Given the description of an element on the screen output the (x, y) to click on. 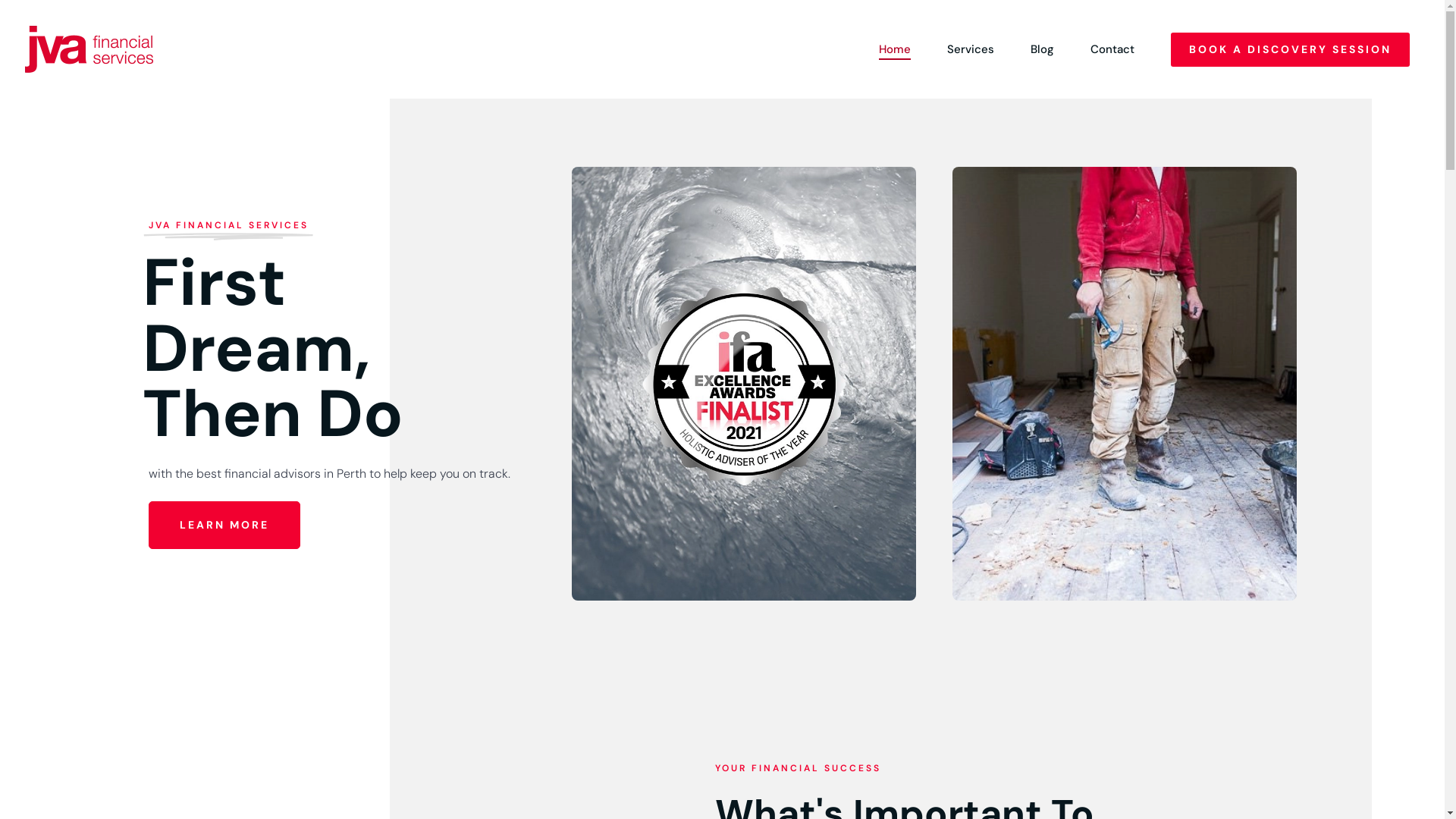
LEARN MORE Element type: text (224, 525)
Services Element type: text (970, 49)
Contact Element type: text (1112, 49)
Blog Element type: text (1042, 49)
Home Element type: text (894, 49)
BOOK A DISCOVERY SESSION Element type: text (1289, 48)
